Given the description of an element on the screen output the (x, y) to click on. 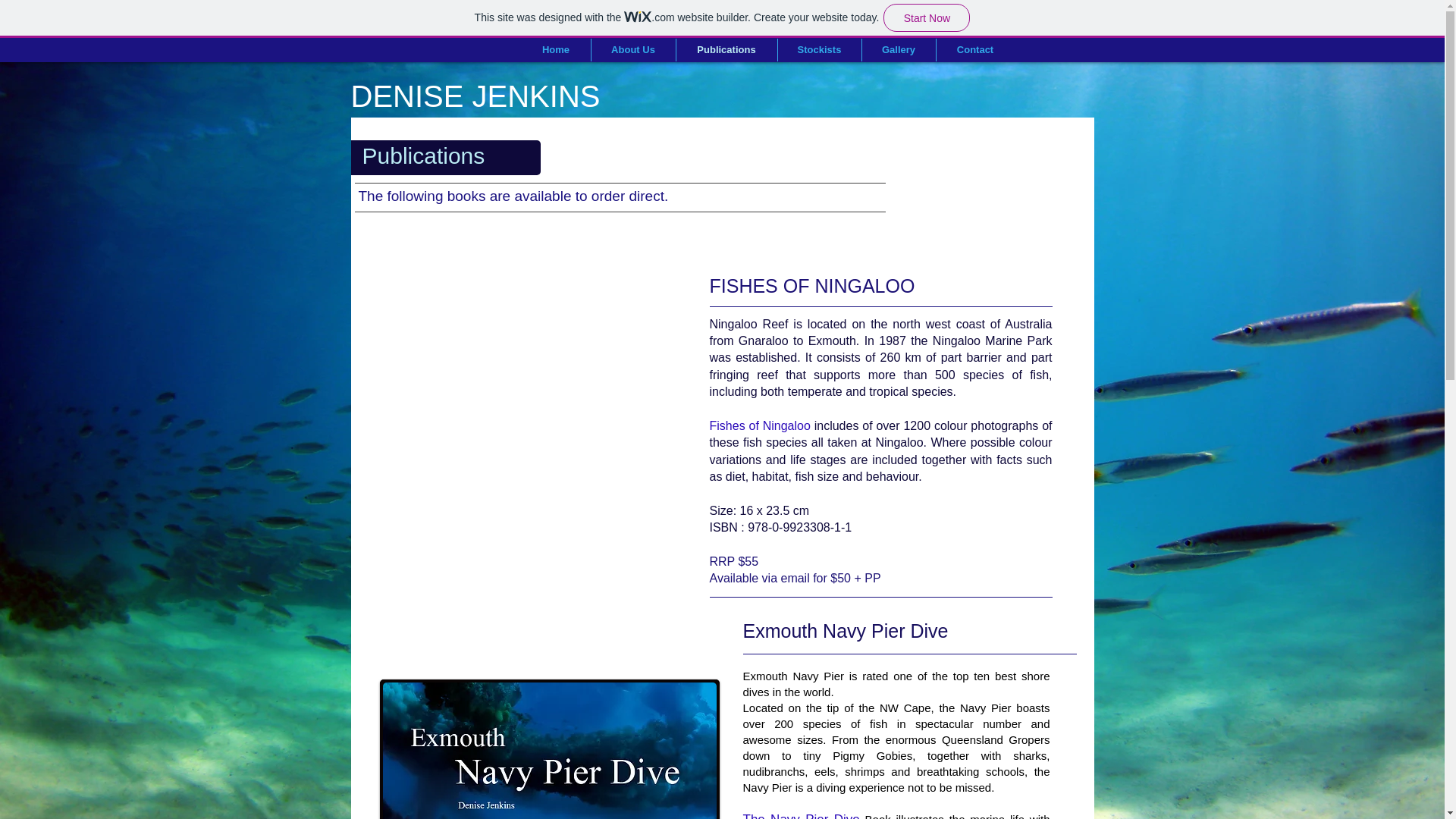
Publications (727, 49)
Home (556, 49)
Gallery (897, 49)
Stockists (819, 49)
Contact (974, 49)
Facebook Like (1010, 135)
About Us (633, 49)
